Given the description of an element on the screen output the (x, y) to click on. 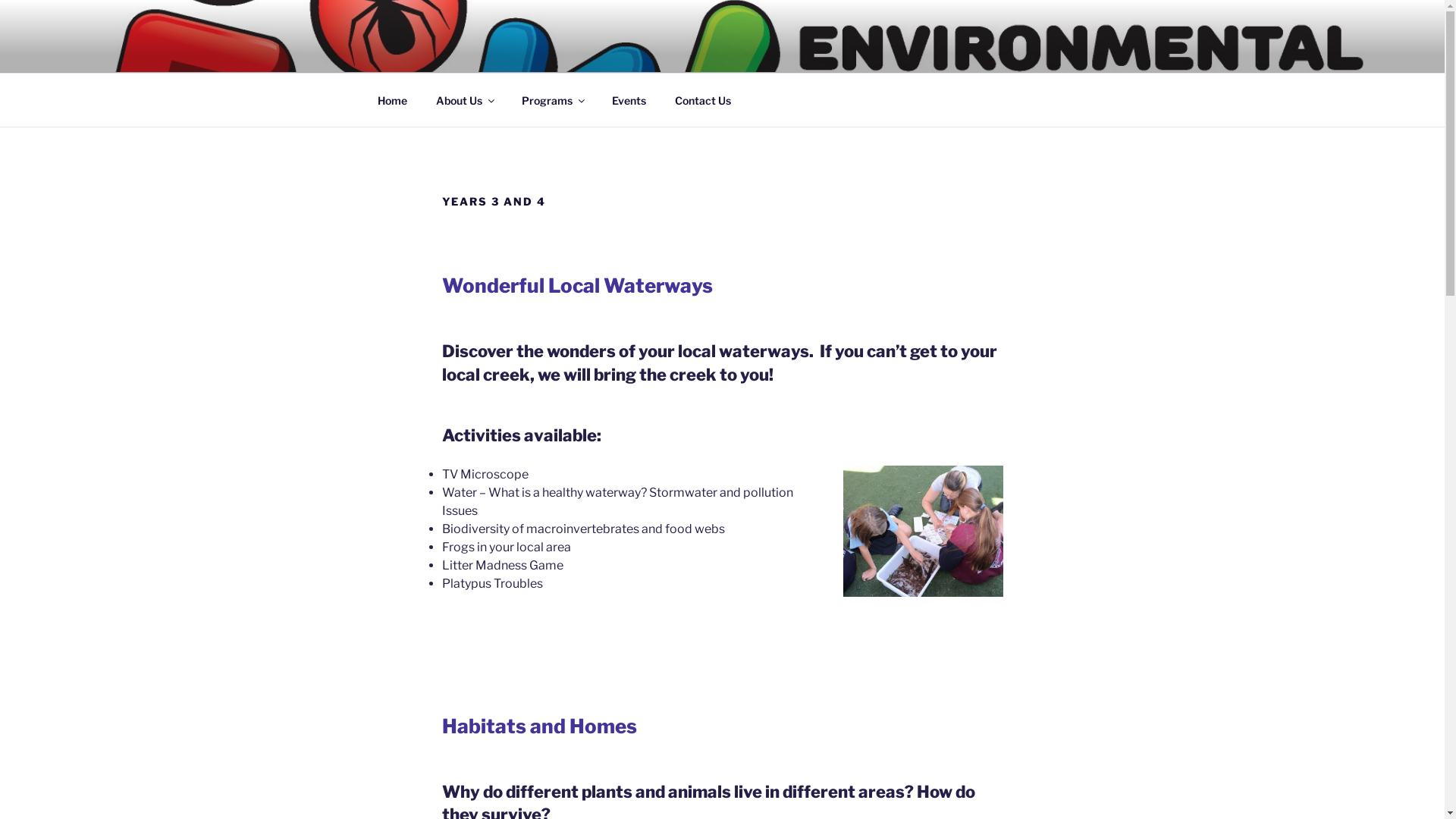
About Us Element type: text (464, 100)
Programs Element type: text (552, 100)
EEK! ENVIRONMENTAL EDUCATION FOR KIDS Element type: text (732, 52)
Contact Us Element type: text (702, 100)
Home Element type: text (392, 100)
Events Element type: text (629, 100)
